Given the description of an element on the screen output the (x, y) to click on. 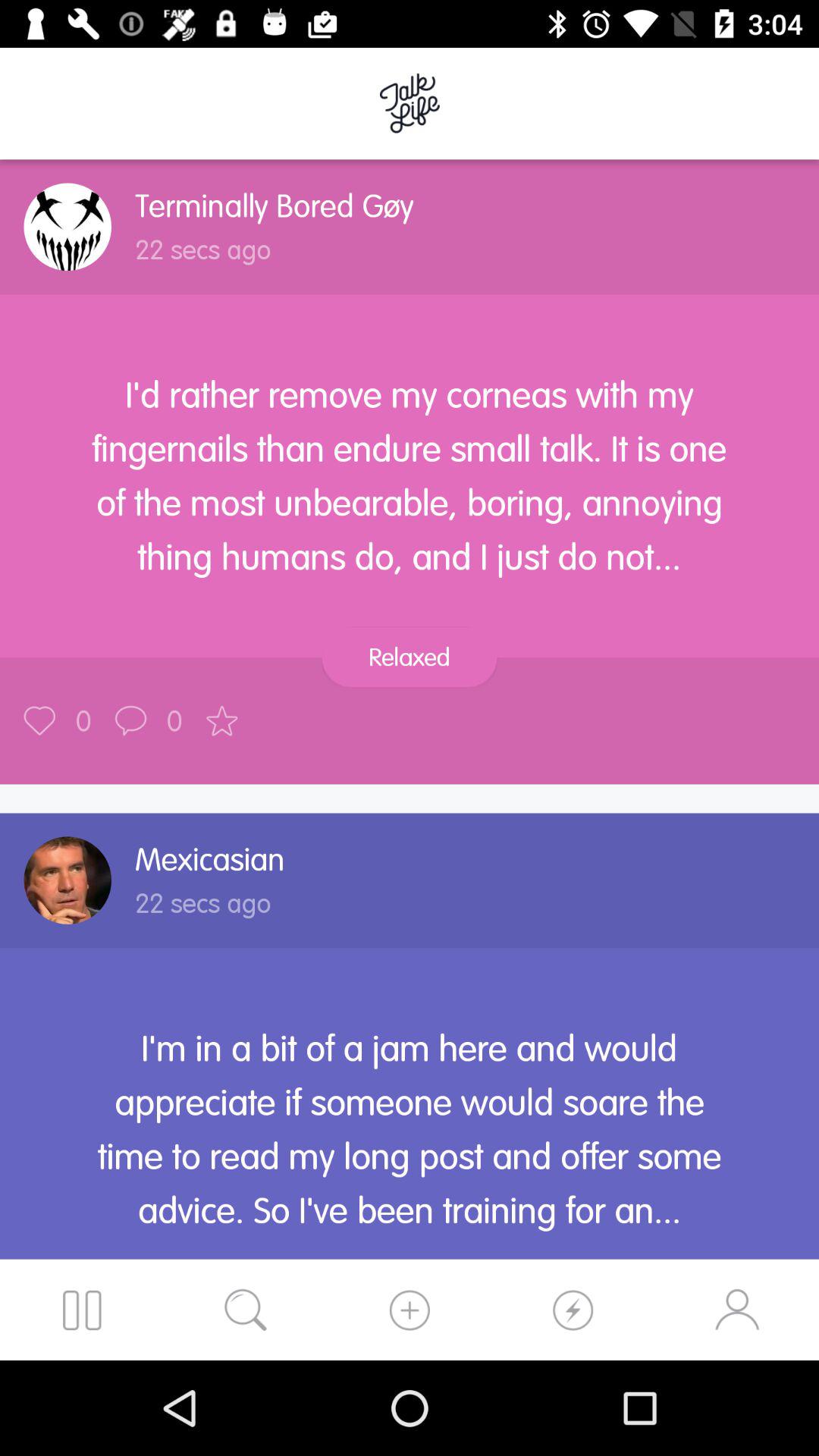
scroll until the mexicasian icon (209, 859)
